Given the description of an element on the screen output the (x, y) to click on. 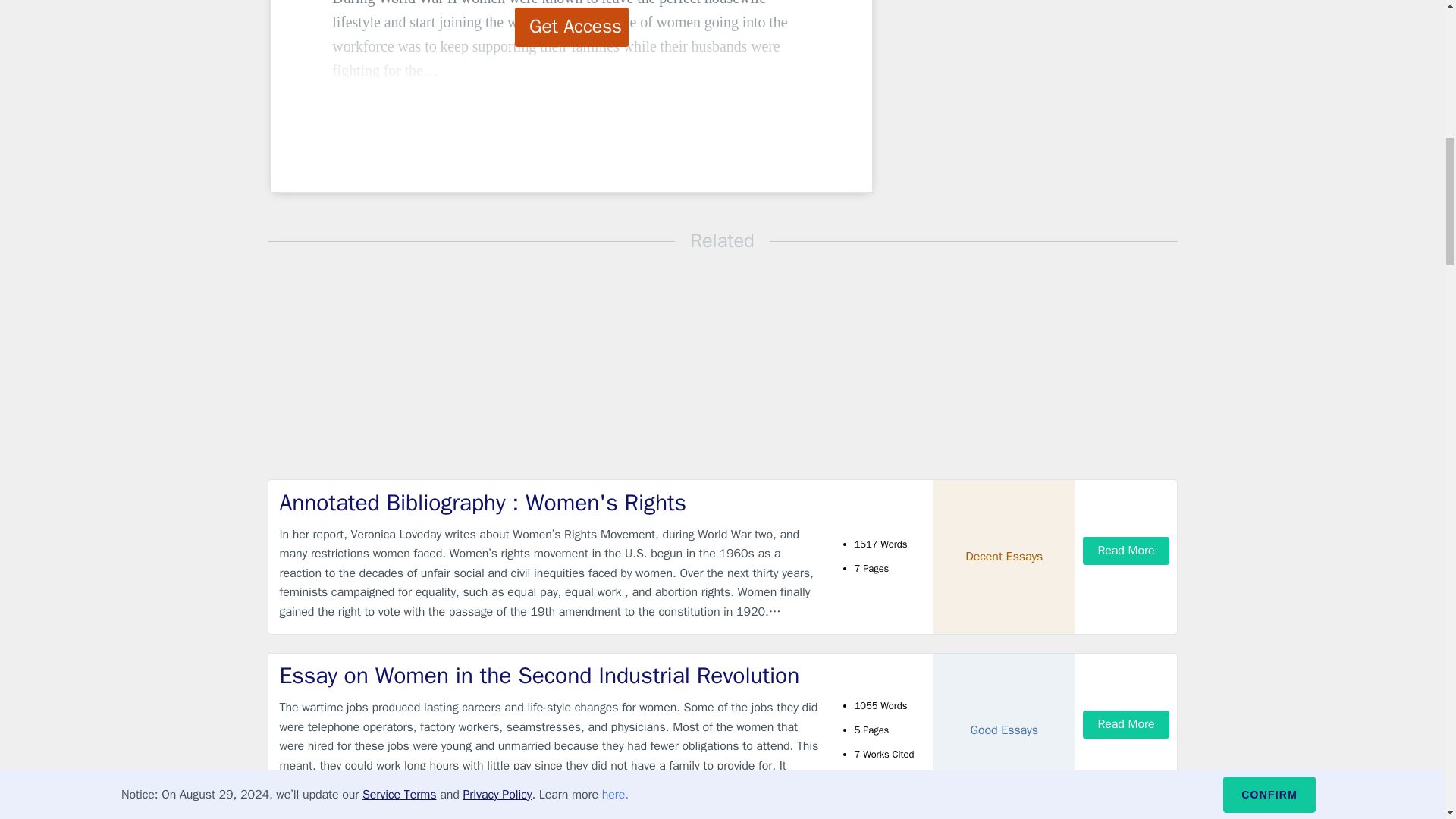
Read More (1126, 724)
Get Access (571, 26)
Essay on Women in the Second Industrial Revolution (548, 675)
Annotated Bibliography : Women's Rights (548, 502)
Read More (1126, 551)
